Given the description of an element on the screen output the (x, y) to click on. 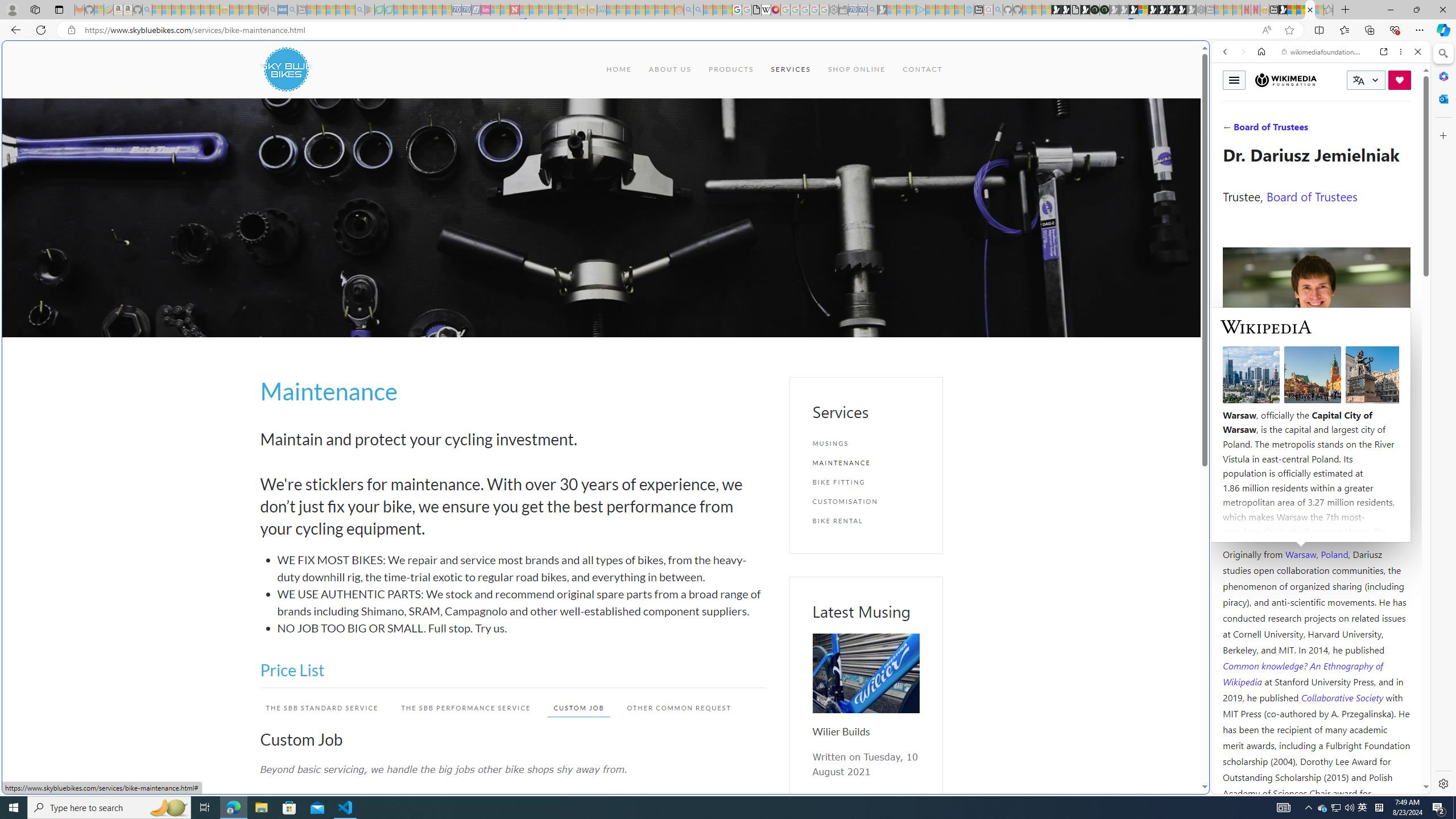
Play Cave FRVR in your browser | Games from Microsoft Start (922, 242)
Class: b_serphb (1404, 130)
PRODUCTS (730, 68)
HOME (619, 68)
ABOUT US (669, 68)
MAINTENANCE (865, 462)
Settings - Sleeping (833, 9)
